Given the description of an element on the screen output the (x, y) to click on. 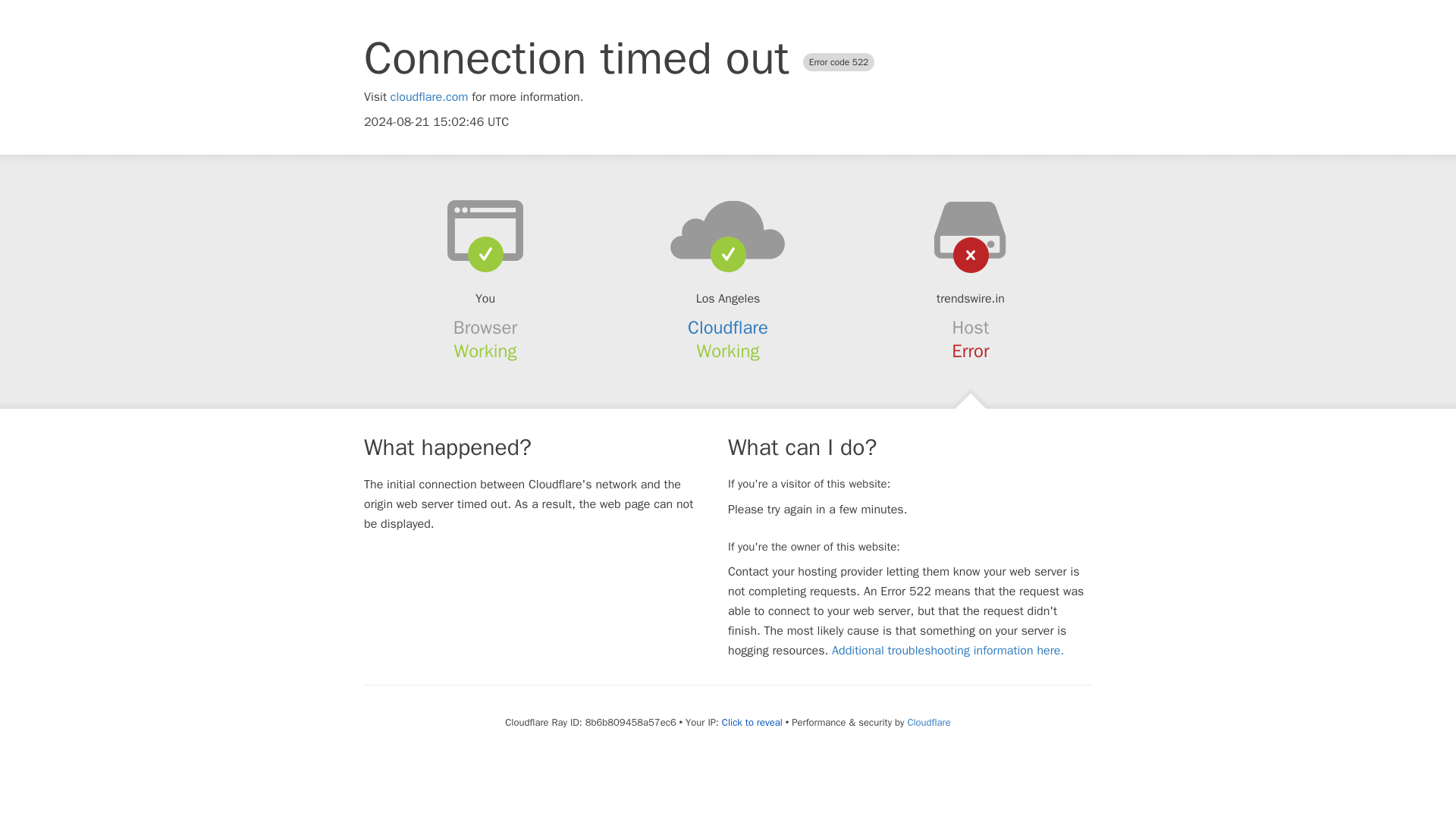
Cloudflare (727, 327)
Click to reveal (752, 722)
Cloudflare (928, 721)
cloudflare.com (429, 96)
Additional troubleshooting information here. (947, 650)
